Given the description of an element on the screen output the (x, y) to click on. 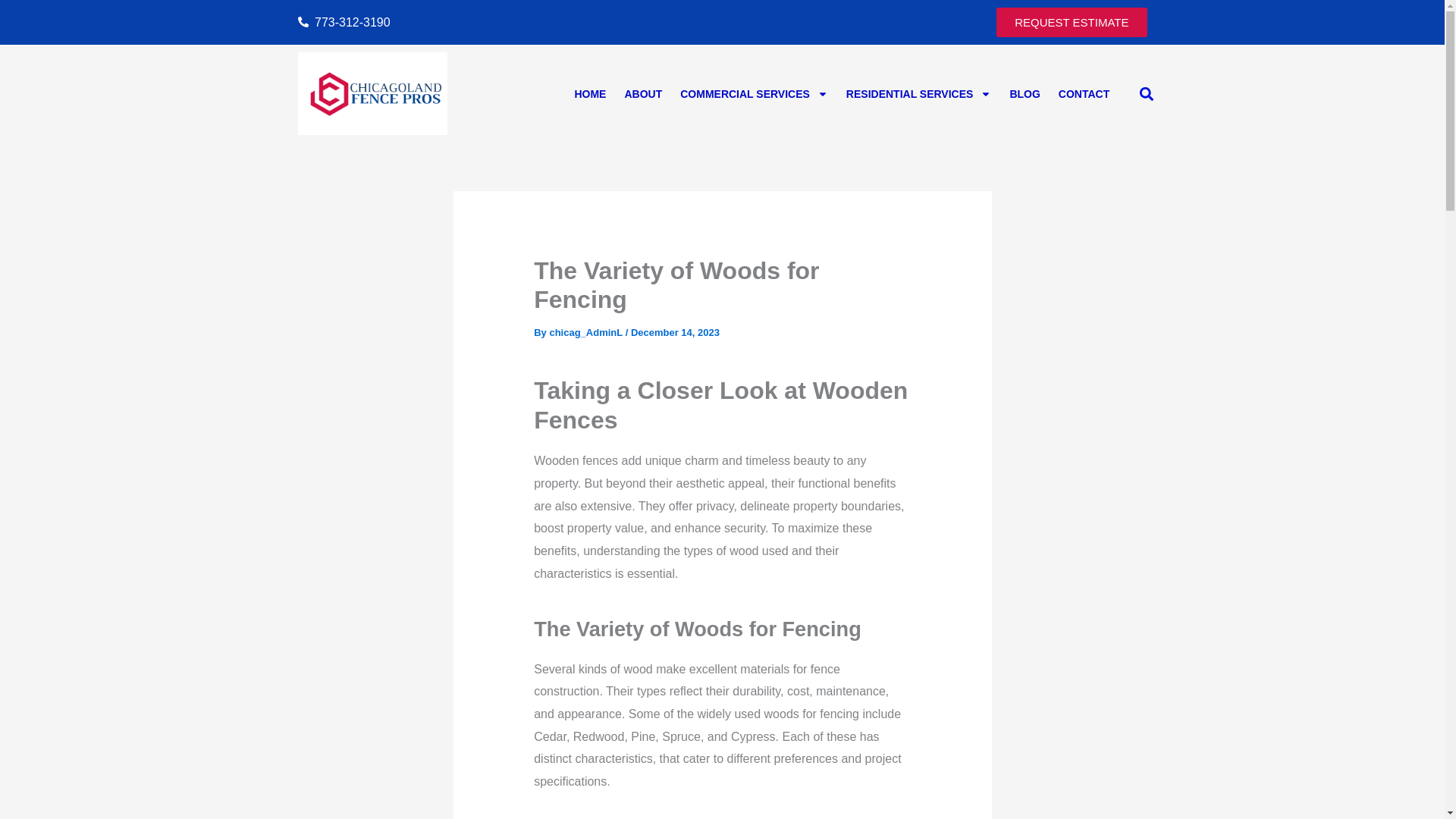
REQUEST ESTIMATE (1071, 21)
RESIDENTIAL SERVICES (919, 93)
CONTACT (1083, 93)
HOME (589, 93)
BLOG (1024, 93)
773-312-3190 (505, 22)
ABOUT (642, 93)
COMMERCIAL SERVICES (754, 93)
